Given the description of an element on the screen output the (x, y) to click on. 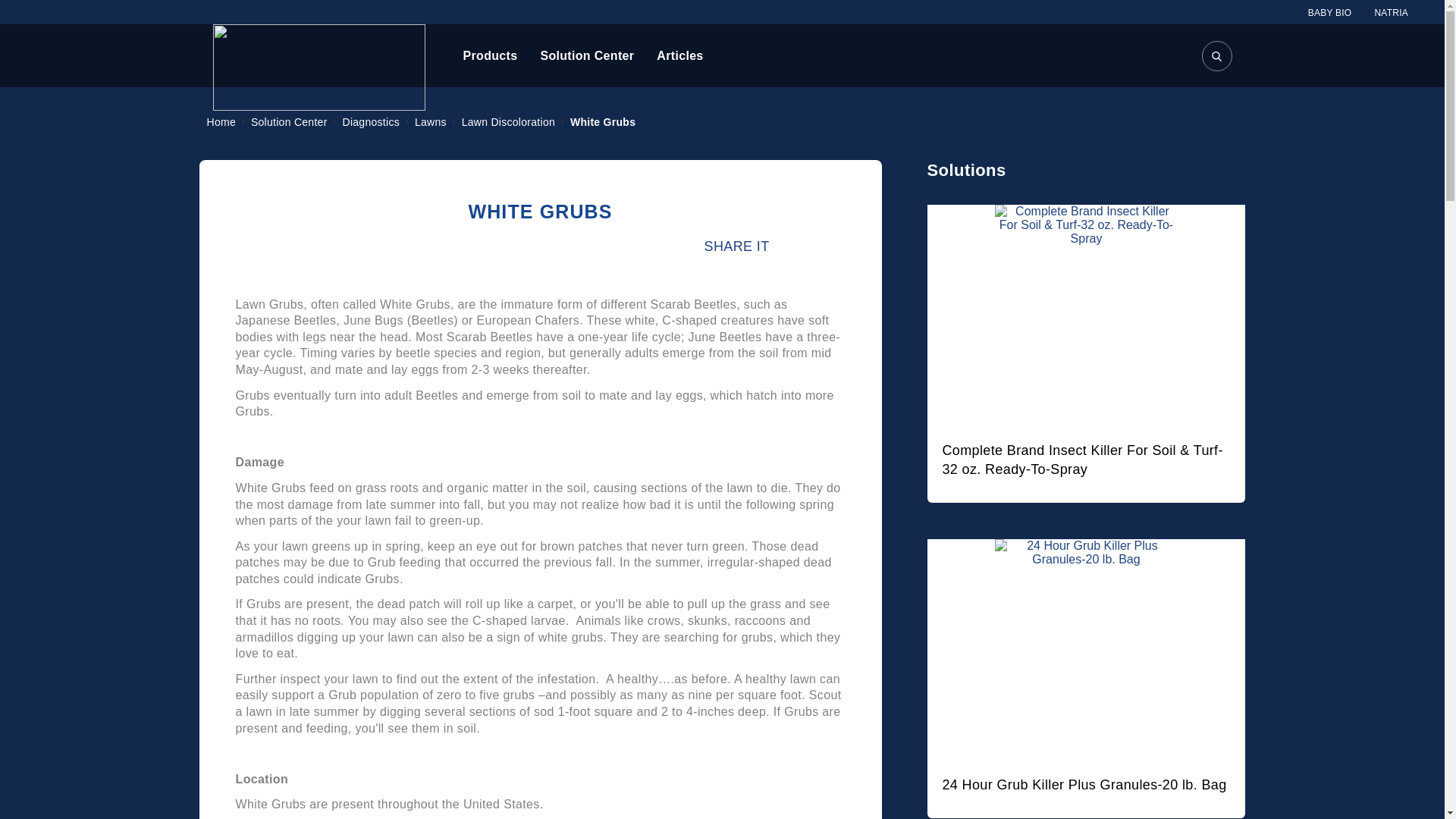
Lawns (431, 121)
BABY BIO (1329, 12)
NATRIA (1390, 12)
Lawn Discoloration (510, 121)
Diagnostics (372, 121)
Articles (679, 55)
Solution Center (290, 121)
Lawns (431, 121)
24 Hour Grub Killer Plus Granules-20 lb. Bag (1083, 784)
Diagnostics (372, 121)
